Given the description of an element on the screen output the (x, y) to click on. 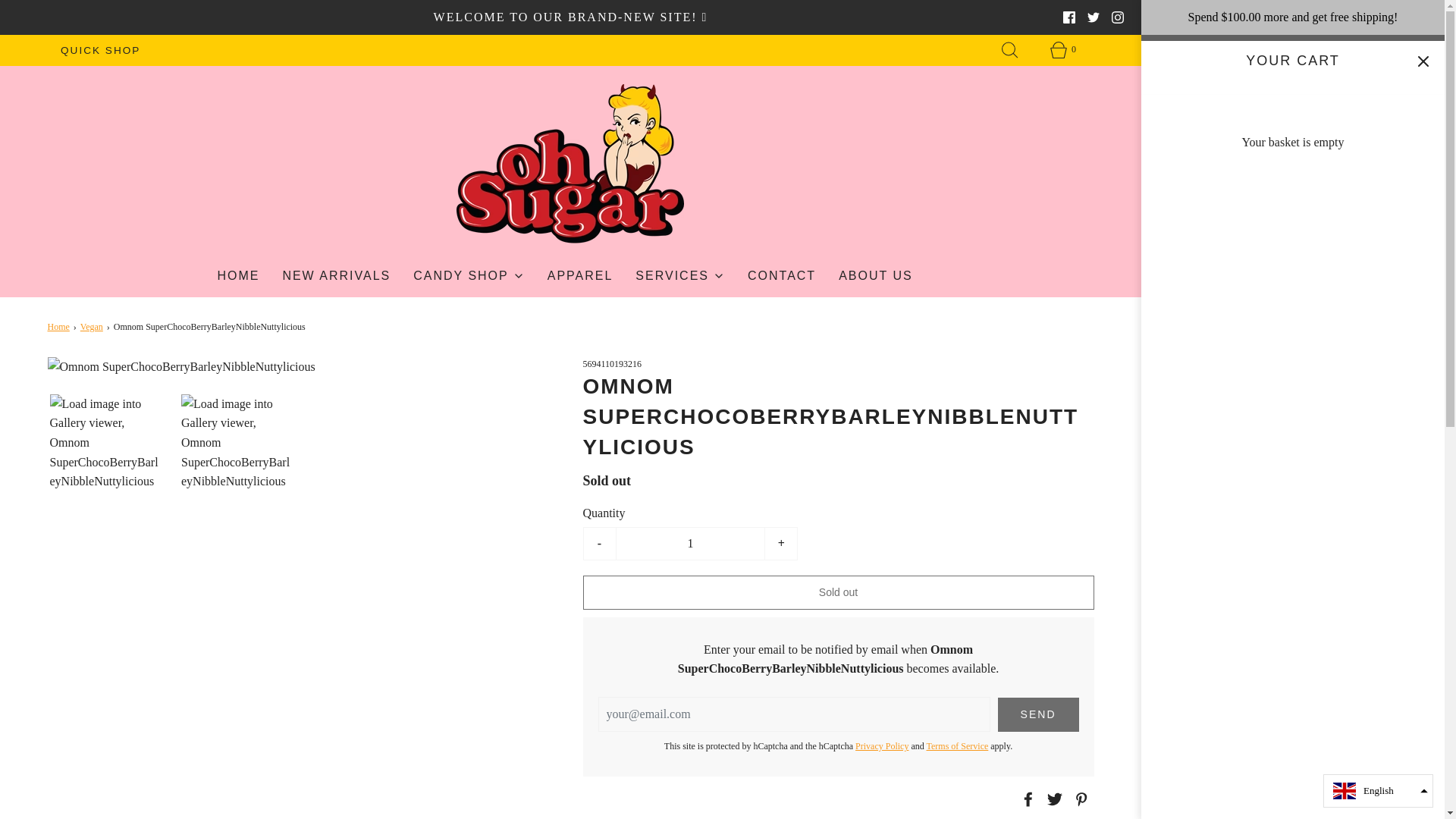
INSTAGRAM ICON (1118, 17)
Cart (1062, 49)
QUICK SHOP (100, 50)
INSTAGRAM ICON (1118, 17)
TWITTER ICON (1093, 17)
FACEBOOK ICON (1068, 17)
TWITTER ICON (1093, 17)
Back to the frontpage (59, 327)
0 (1062, 49)
FACEBOOK ICON (1068, 17)
Send (1037, 714)
1 (689, 543)
Search (1010, 49)
